Given the description of an element on the screen output the (x, y) to click on. 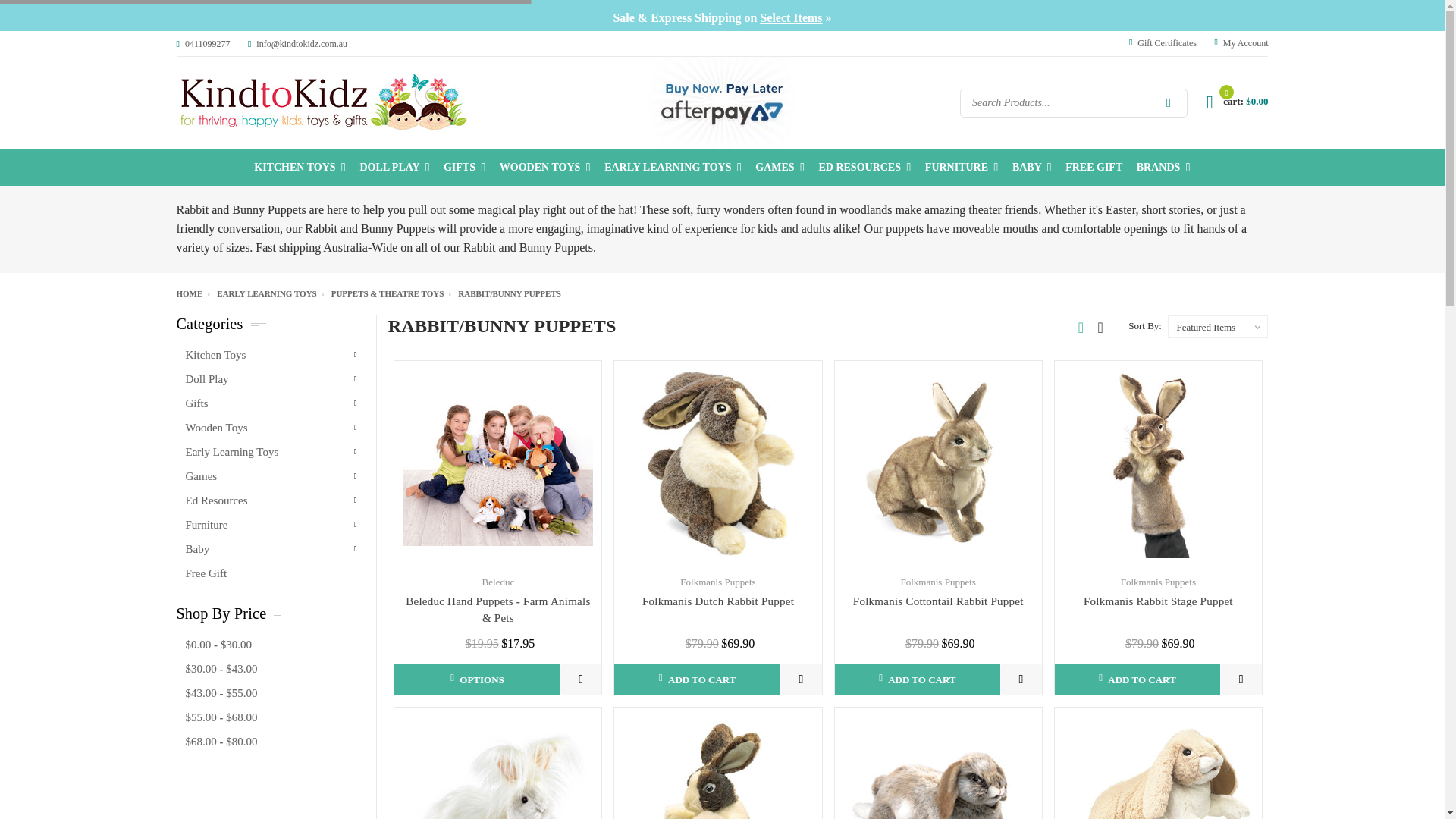
Folkmanis Cottontail Rabbit Puppet (937, 462)
Folkmanis Angora Rabbit Puppet (497, 770)
Folkmanis Holland Lop Rabbit Puppet (937, 781)
hand puppets (497, 463)
Folkmanis Floppy Bunny Rabbit Puppet (1157, 771)
Folkmanis Baby Dutch Rabbit Puppet (718, 766)
